Given the description of an element on the screen output the (x, y) to click on. 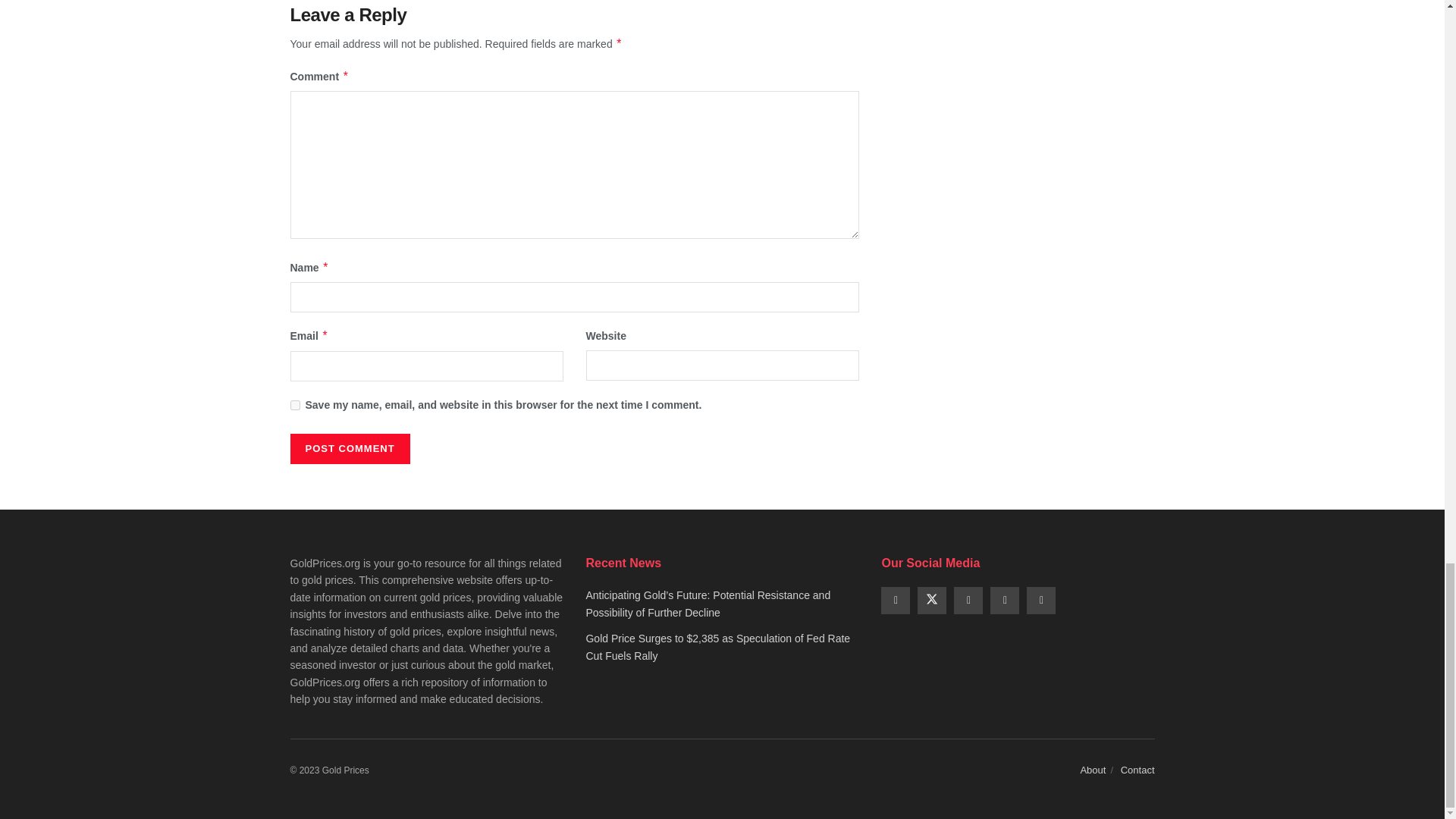
Post Comment (349, 449)
yes (294, 404)
